Given the description of an element on the screen output the (x, y) to click on. 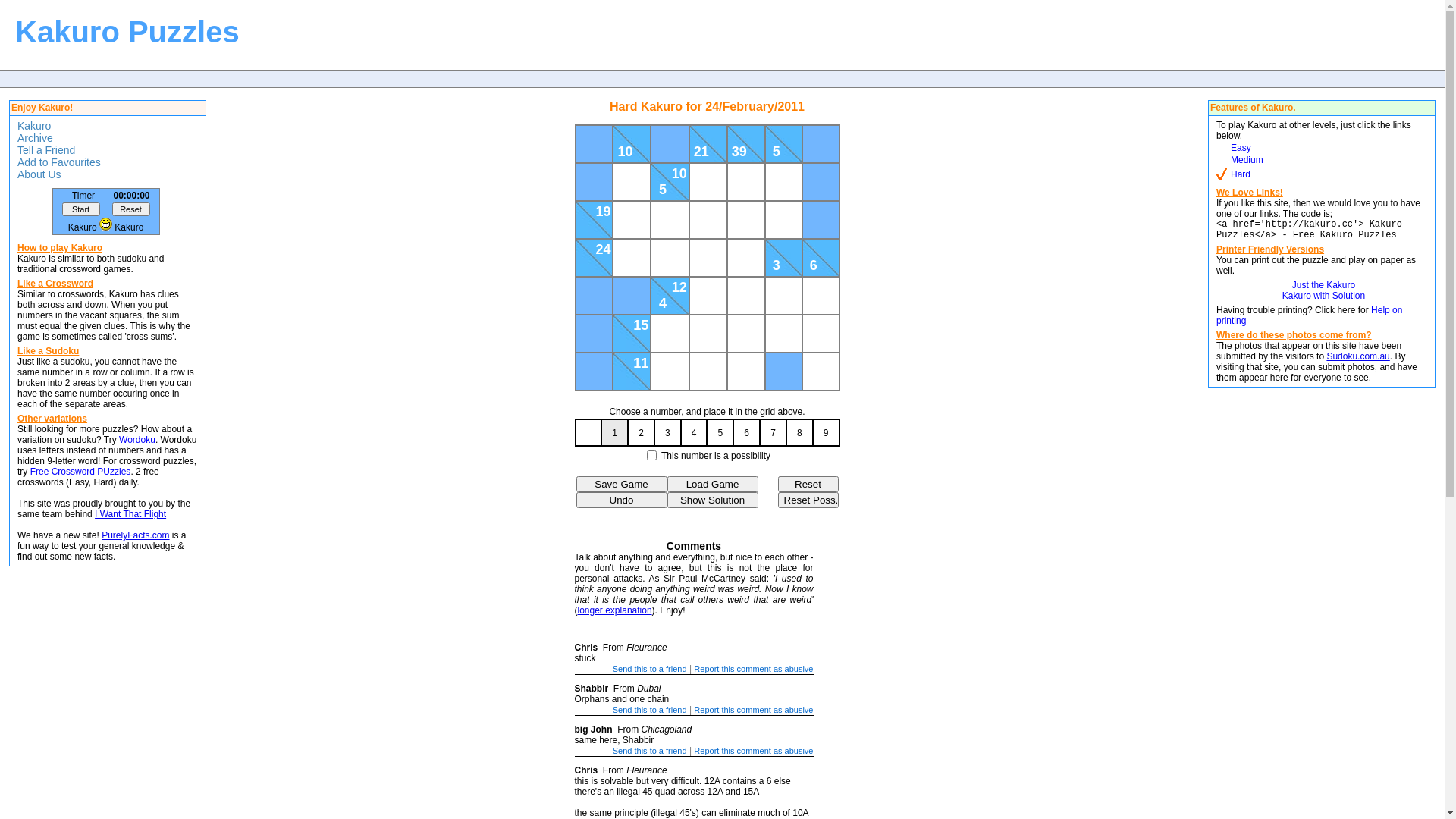
Send this to a friend Element type: text (649, 668)
Show Solution Element type: text (712, 500)
longer explanation Element type: text (614, 610)
Easy Element type: text (1240, 147)
Reset Element type: text (808, 484)
Reset Poss. Element type: text (808, 500)
Free Crossword PUzzles Element type: text (80, 471)
Medium Element type: text (1246, 159)
About Us Element type: text (37, 174)
Kakuro with Solution Element type: text (1323, 295)
Report this comment as abusive Element type: text (752, 668)
Report this comment as abusive Element type: text (752, 709)
Send this to a friend Element type: text (649, 709)
Add to Favourites Element type: text (56, 162)
Help on printing Element type: text (1309, 315)
Kakuro Element type: text (31, 125)
Report this comment as abusive Element type: text (752, 750)
Just the Kakuro Element type: text (1323, 284)
Hard Element type: text (1240, 174)
Wordoku Element type: text (137, 439)
I Want That Flight Element type: text (130, 513)
Comments Element type: text (693, 545)
Send this to a friend Element type: text (649, 750)
Tell a Friend Element type: text (44, 150)
Load Game Element type: text (712, 484)
Start Element type: text (81, 209)
Undo Element type: text (621, 500)
Archive Element type: text (33, 137)
PurelyFacts.com Element type: text (135, 535)
Save Game Element type: text (621, 484)
Reset Element type: text (131, 209)
Sudoku.com.au Element type: text (1357, 356)
